Given the description of an element on the screen output the (x, y) to click on. 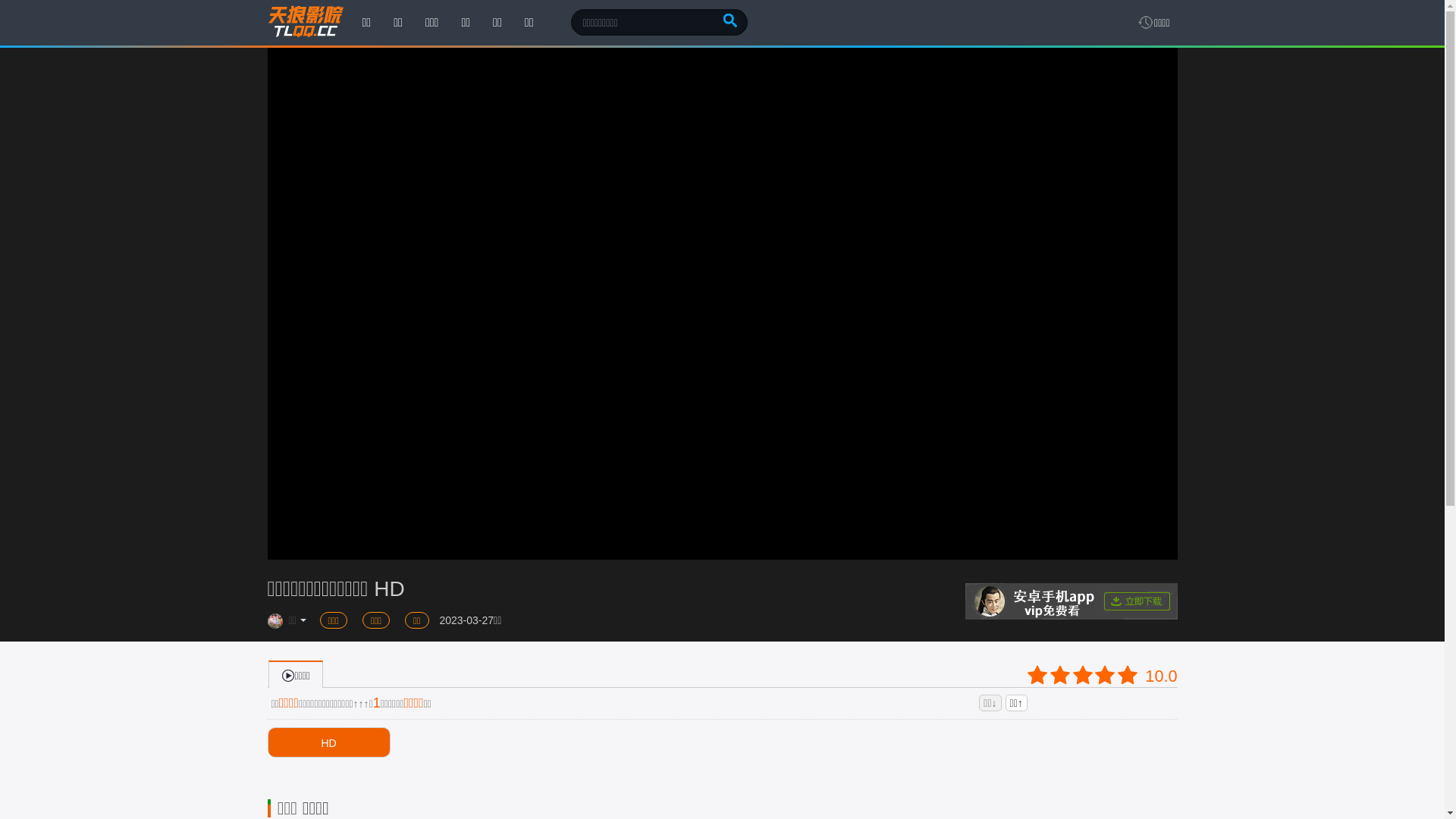
regular Element type: hover (1082, 675)
good Element type: hover (1104, 675)
gorgeous Element type: hover (1127, 675)
poor Element type: hover (1060, 675)
bad Element type: hover (1037, 675)
HD Element type: text (327, 742)
